Given the description of an element on the screen output the (x, y) to click on. 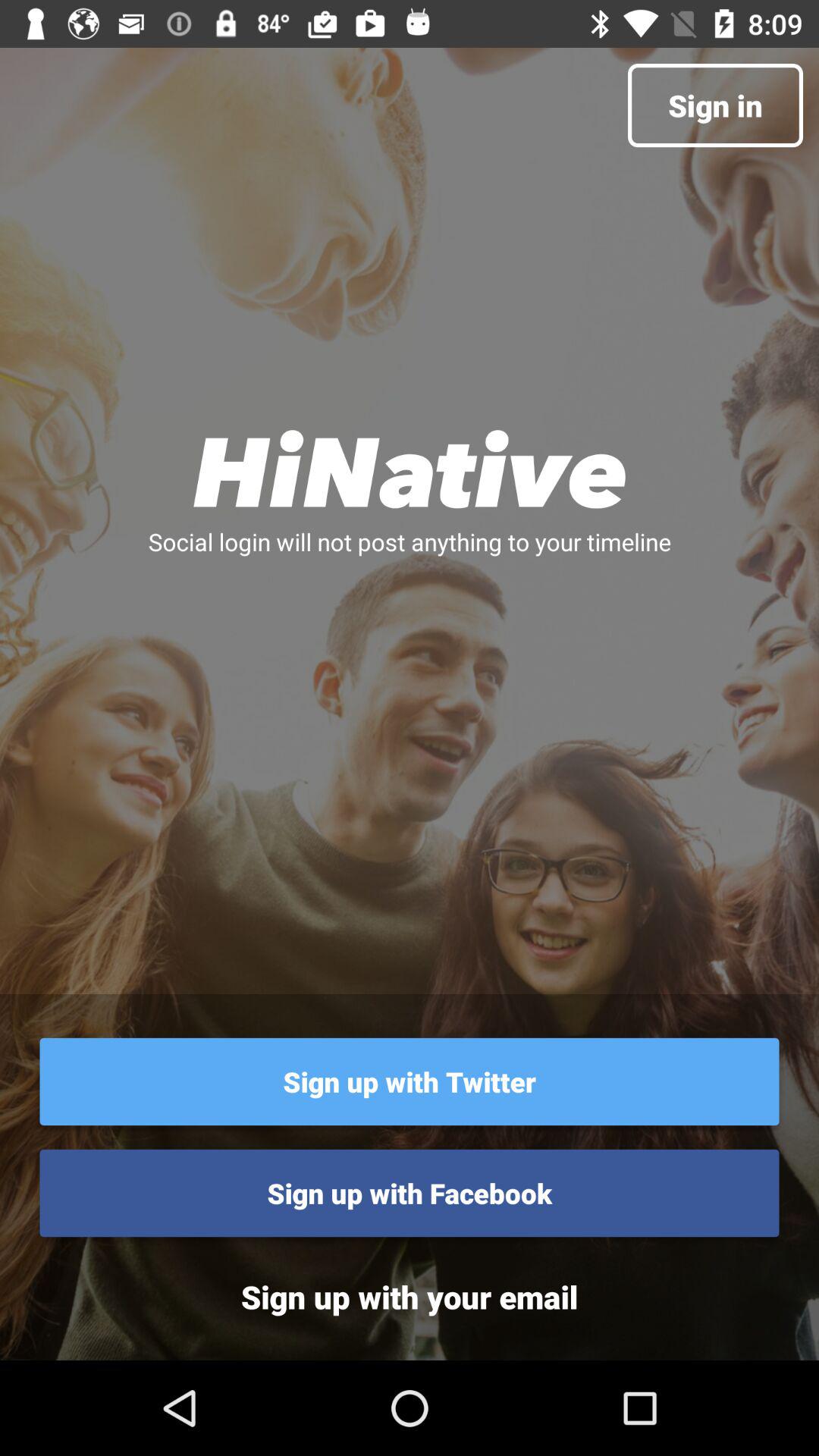
swipe until sign in item (715, 105)
